Given the description of an element on the screen output the (x, y) to click on. 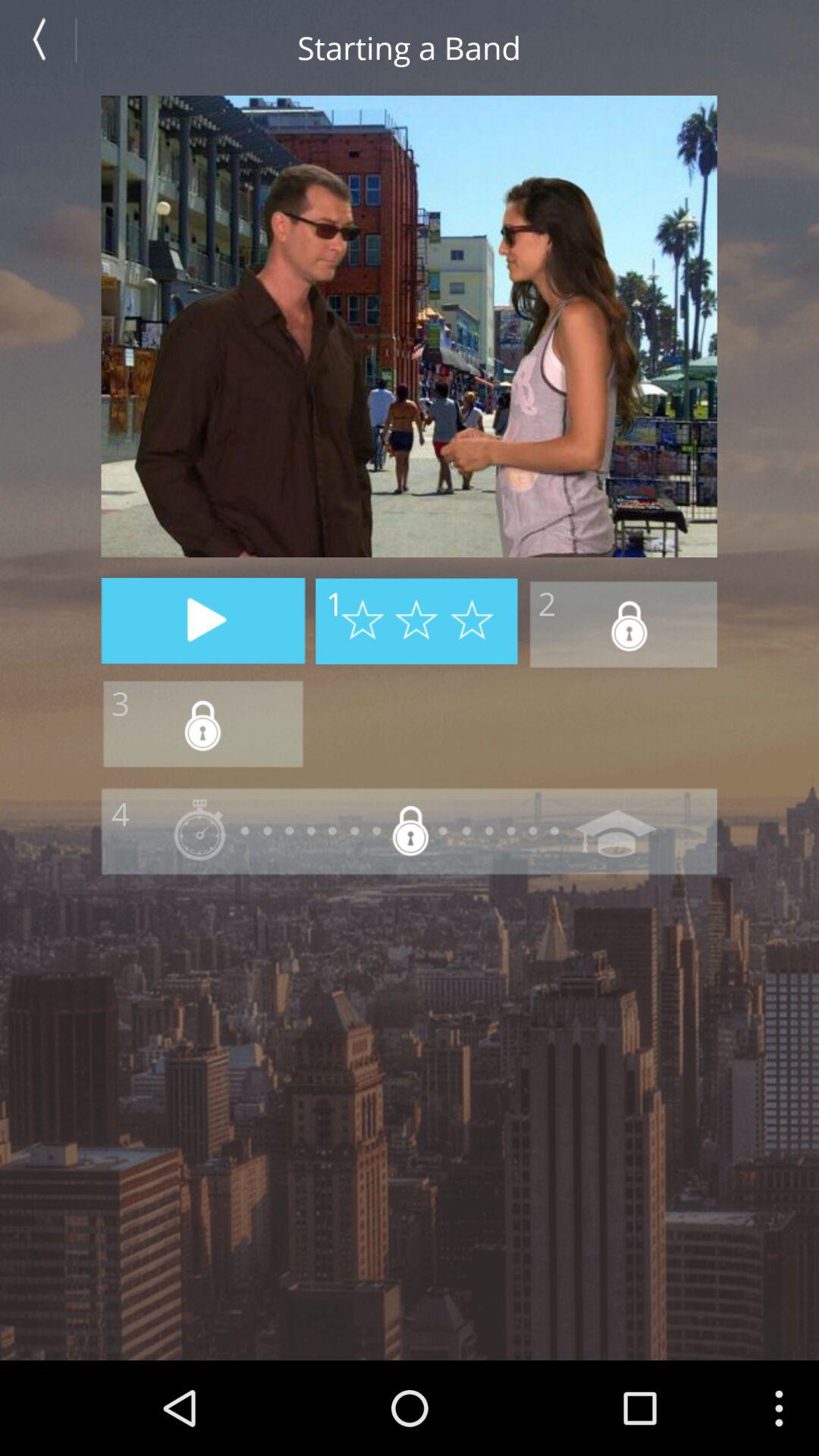
go back (47, 47)
